Given the description of an element on the screen output the (x, y) to click on. 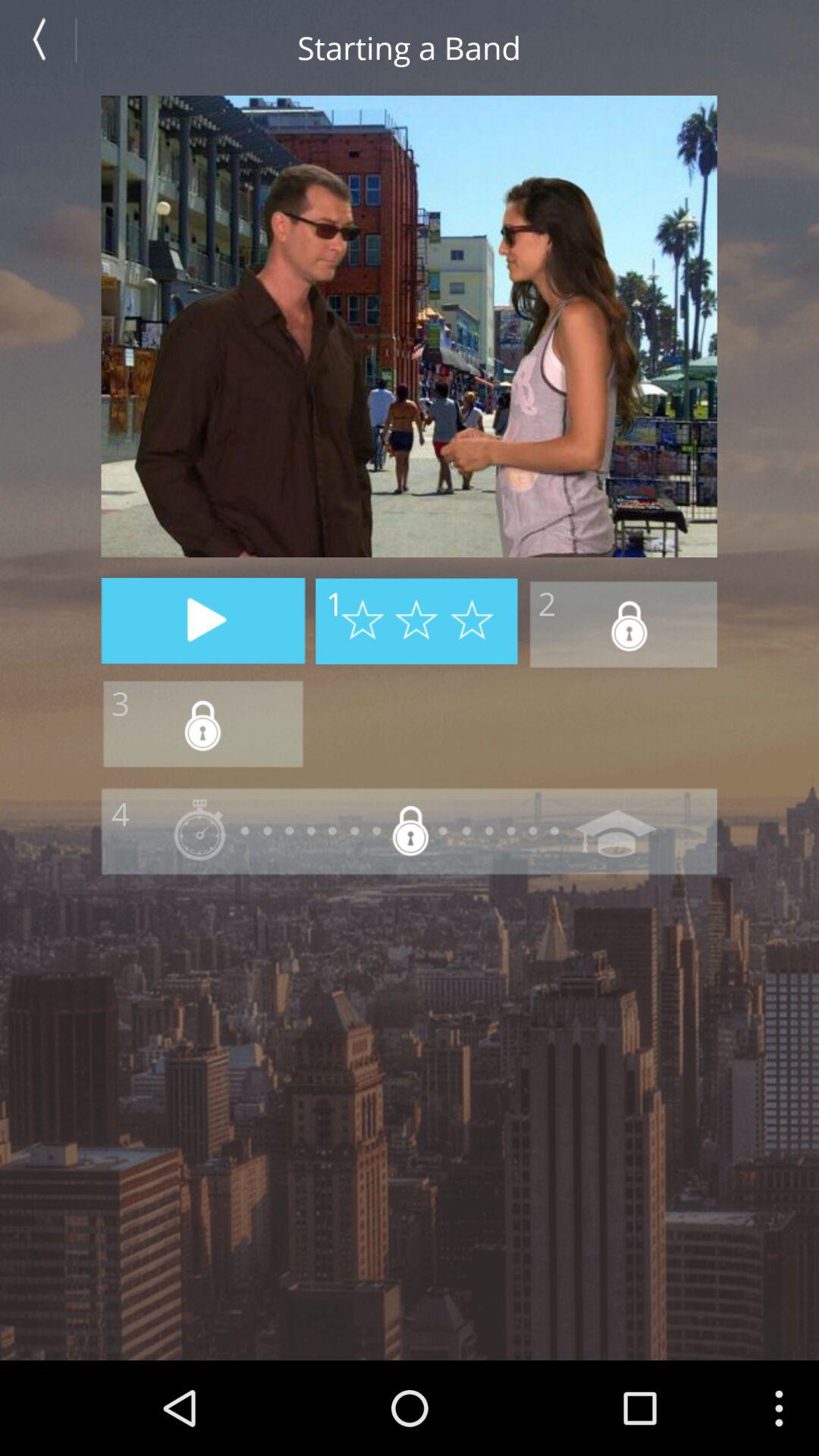
go back (47, 47)
